Given the description of an element on the screen output the (x, y) to click on. 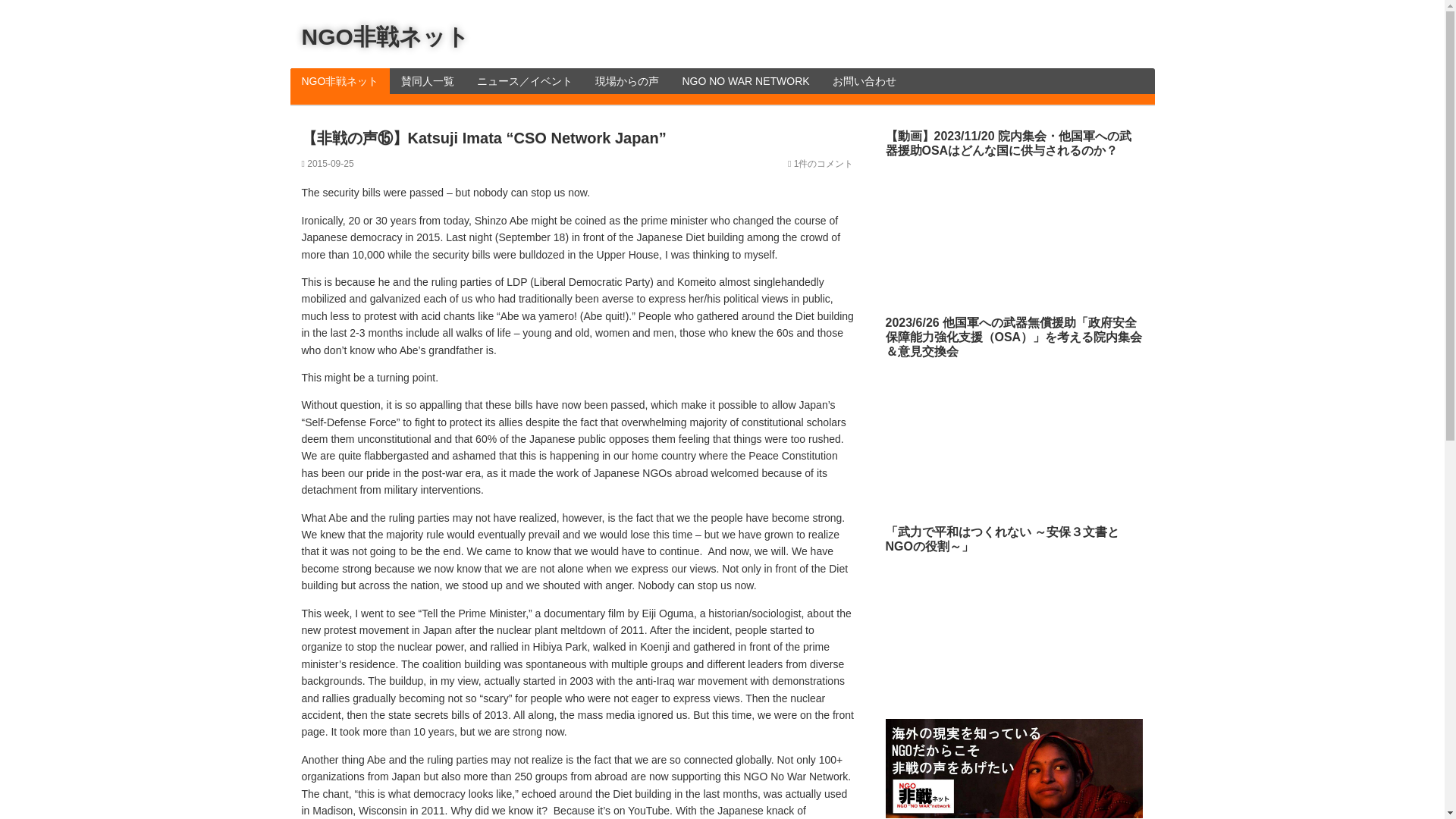
NGO NO WAR NETWORK (745, 80)
YouTube video player (999, 432)
YouTube video player (991, 227)
YouTube video player (999, 627)
